Given the description of an element on the screen output the (x, y) to click on. 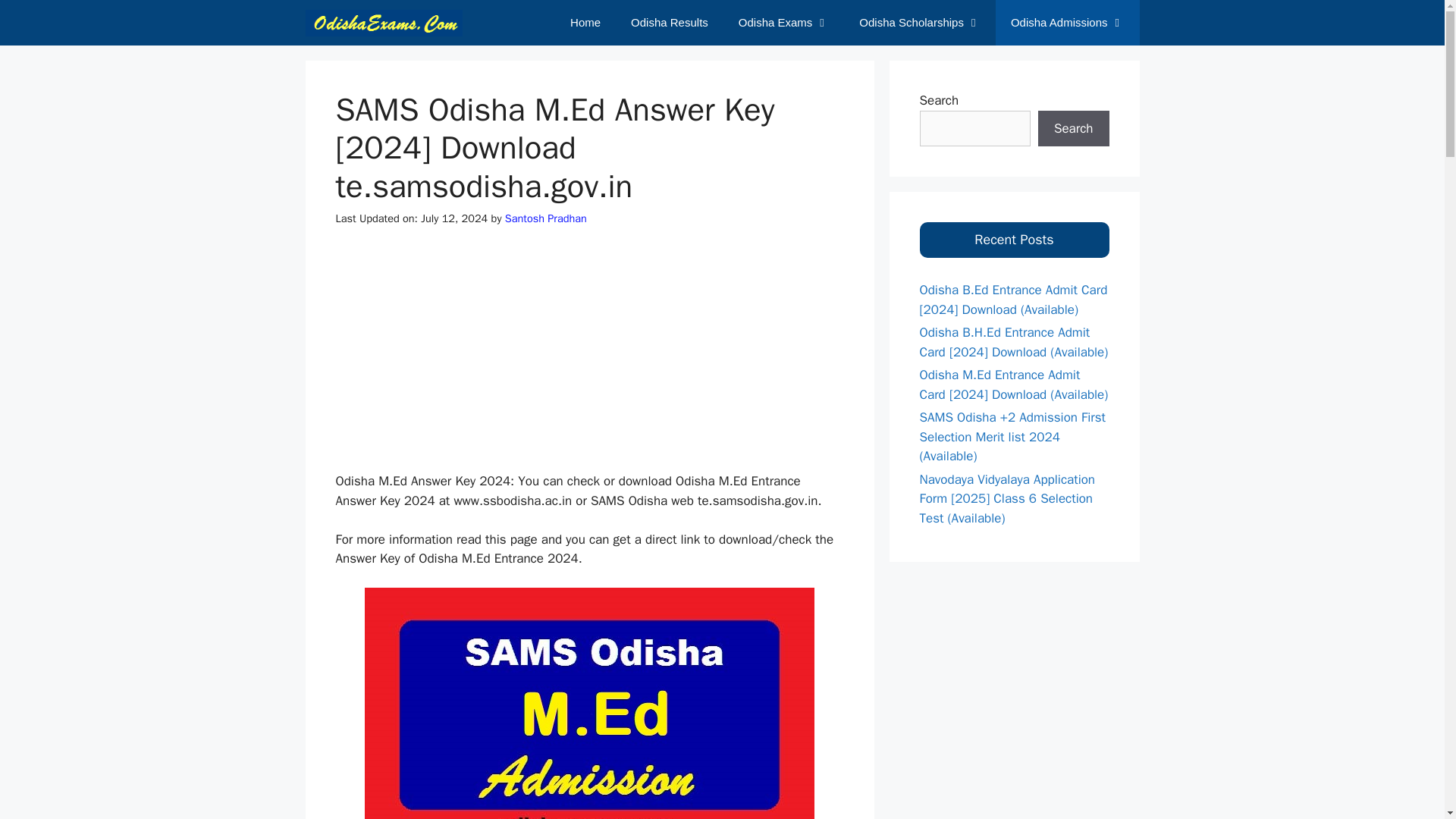
View all posts by Santosh Pradhan (545, 218)
Odisha Results (669, 22)
Odisha Exams (783, 22)
Home (584, 22)
OdishaExams.Com (383, 22)
OdishaExams.Com (387, 22)
Advertisement (594, 359)
Odisha Admissions (1067, 22)
Odisha Scholarships (919, 22)
